Given the description of an element on the screen output the (x, y) to click on. 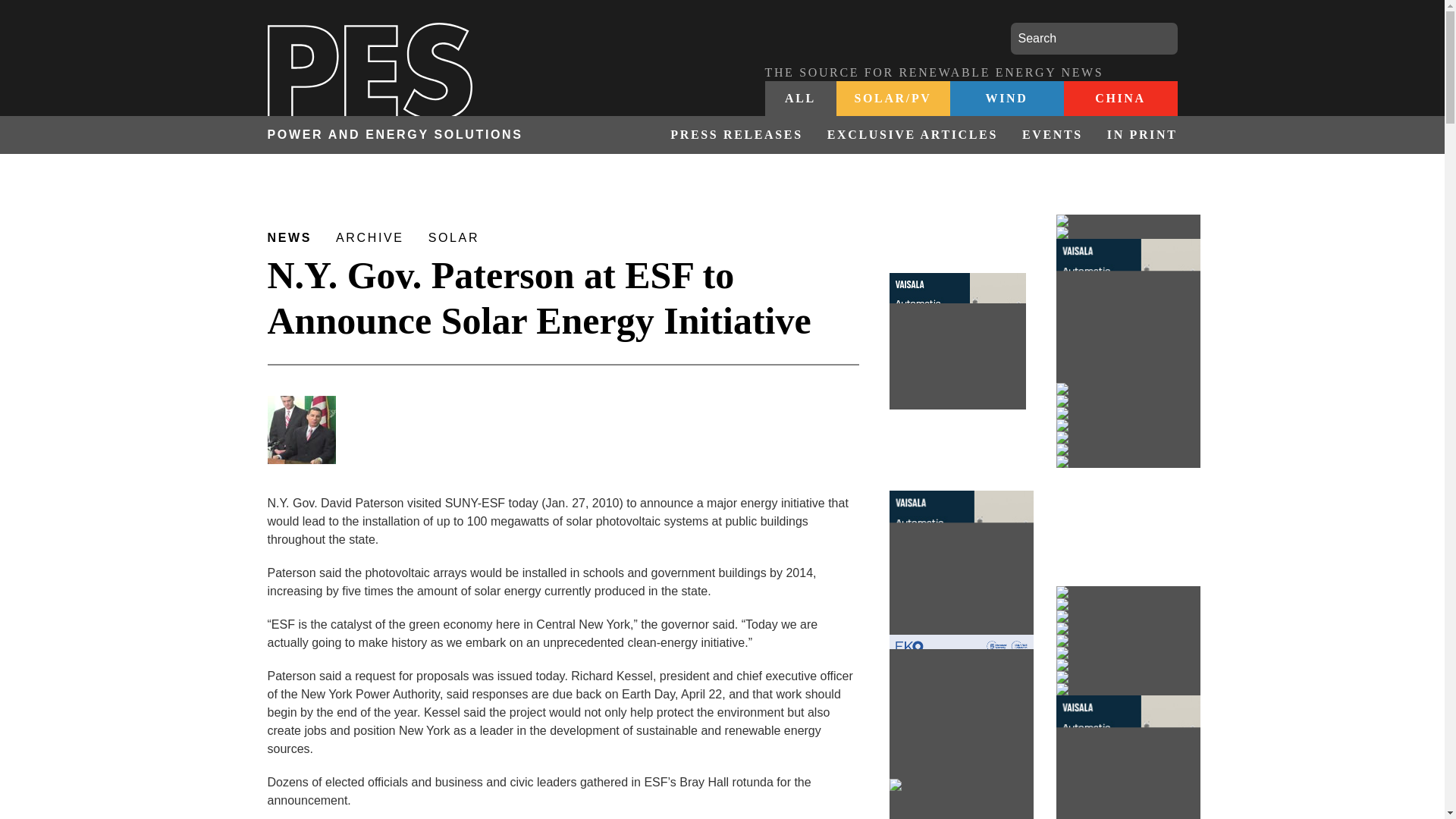
EVENTS (1052, 134)
ALL (799, 98)
Search for: (1093, 38)
PRESS RELEASES (735, 134)
WIND (1005, 98)
EXCLUSIVE ARTICLES (912, 134)
IN PRINT (1135, 134)
CHINA (1119, 98)
